Given the description of an element on the screen output the (x, y) to click on. 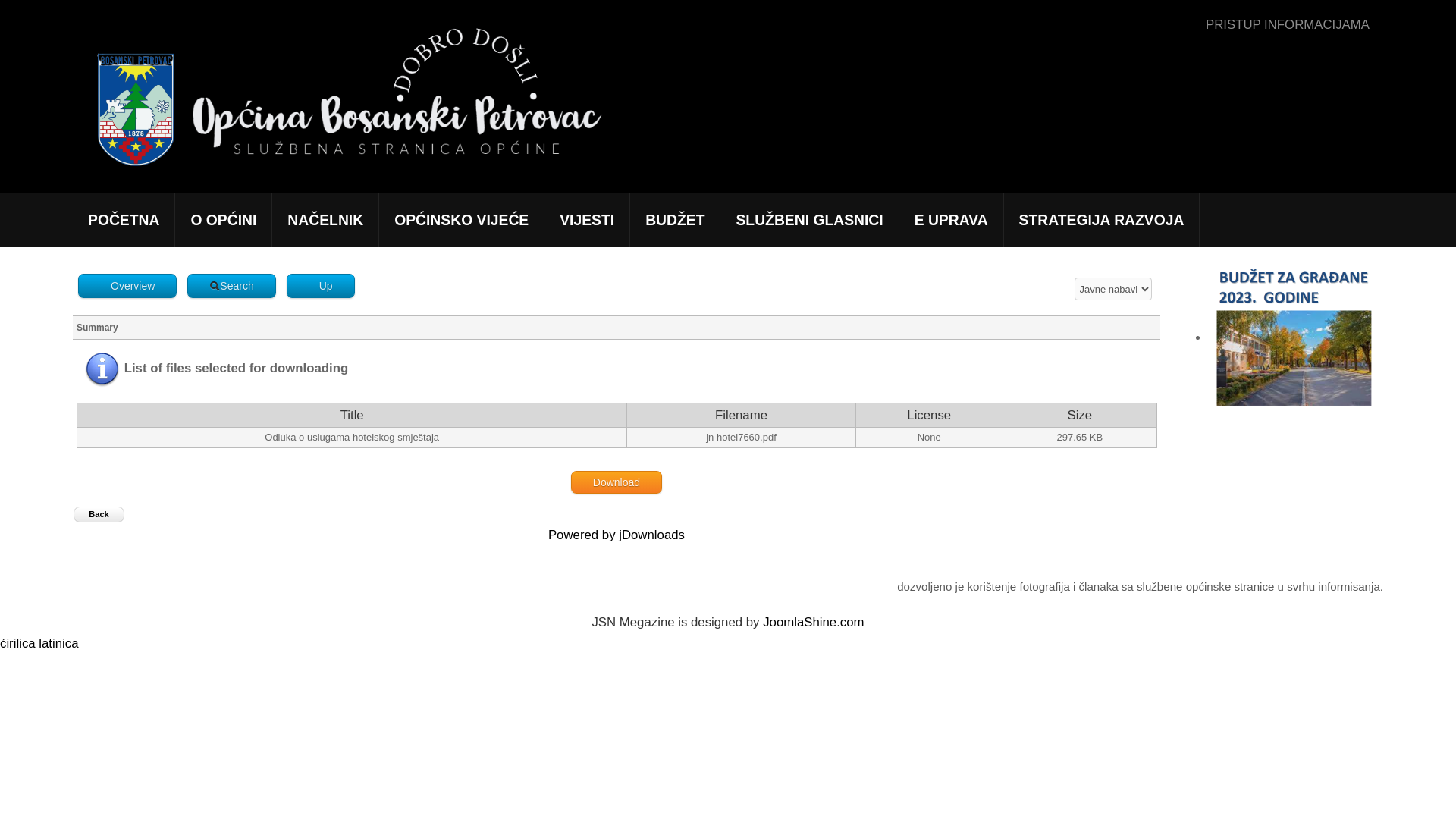
Back Element type: text (98, 513)
STRATEGIJA RAZVOJA Element type: text (1101, 220)
E UPRAVA Element type: text (951, 220)
Search Element type: text (230, 285)
Up Element type: text (320, 285)
VIJESTI Element type: text (586, 220)
latinica Element type: text (58, 643)
Download Element type: text (616, 482)
JoomlaShine.com Element type: text (812, 622)
Overview Element type: text (127, 285)
Powered by jDownloads Element type: text (616, 534)
PRISTUP INFORMACIJAMA Element type: text (1287, 24)
